Given the description of an element on the screen output the (x, y) to click on. 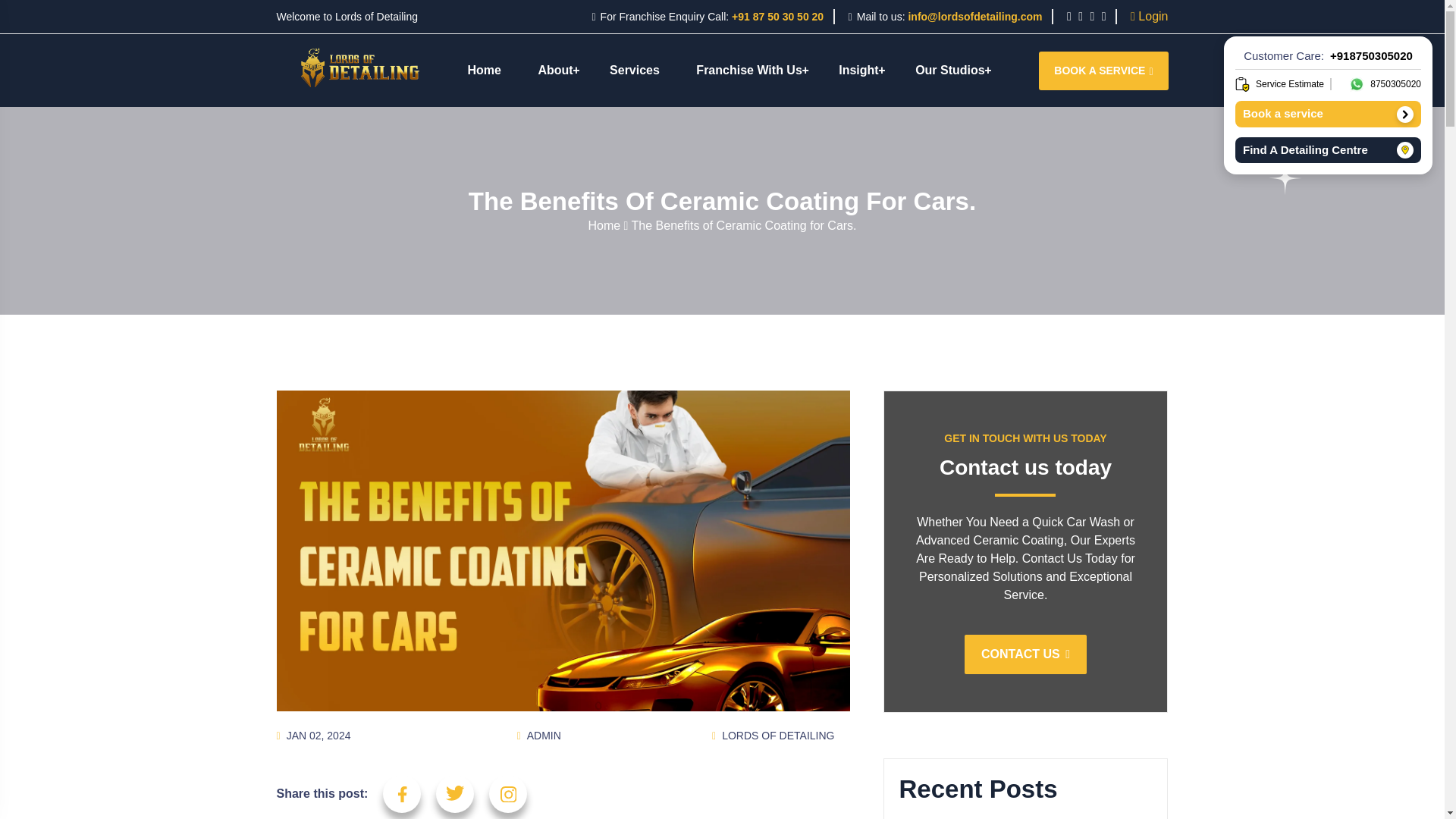
Home (482, 70)
Franchise With Us (748, 70)
Login (1149, 15)
Services (634, 70)
About (555, 70)
Insight (858, 70)
